Given the description of an element on the screen output the (x, y) to click on. 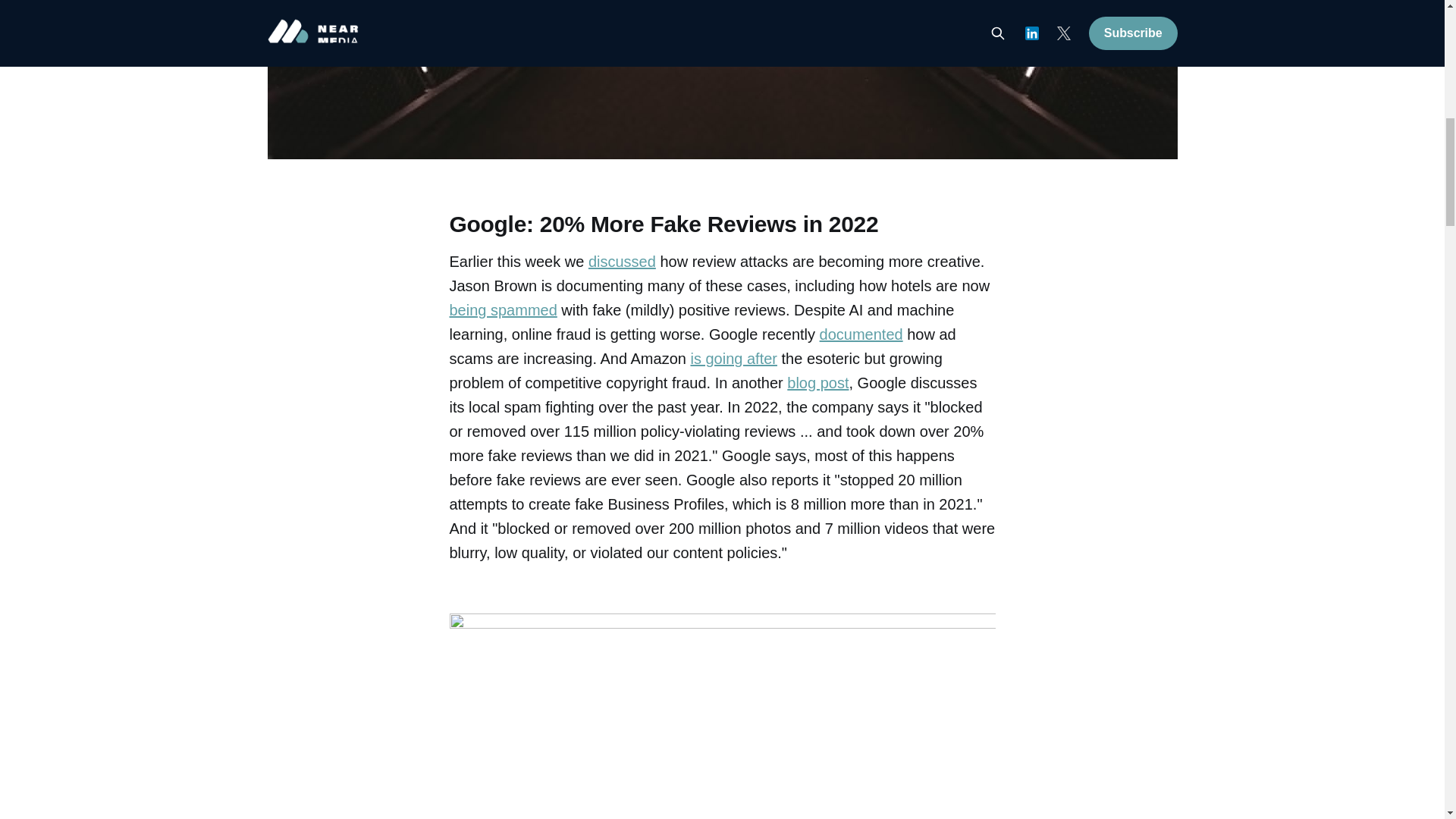
discussed (622, 261)
blog post (817, 382)
being spammed (502, 310)
is going after (733, 358)
documented (860, 334)
